Given the description of an element on the screen output the (x, y) to click on. 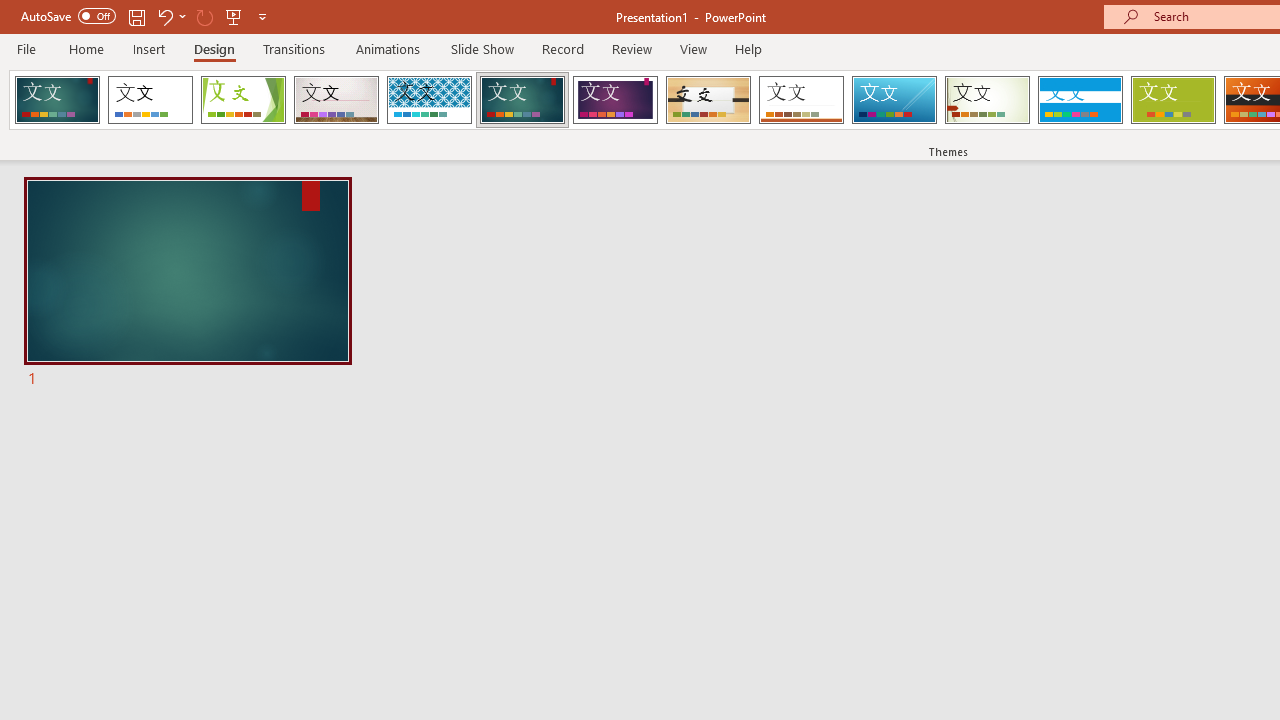
Integral Loading Preview... (429, 100)
Organic Loading Preview... (708, 100)
Slice Loading Preview... (893, 100)
